Given the description of an element on the screen output the (x, y) to click on. 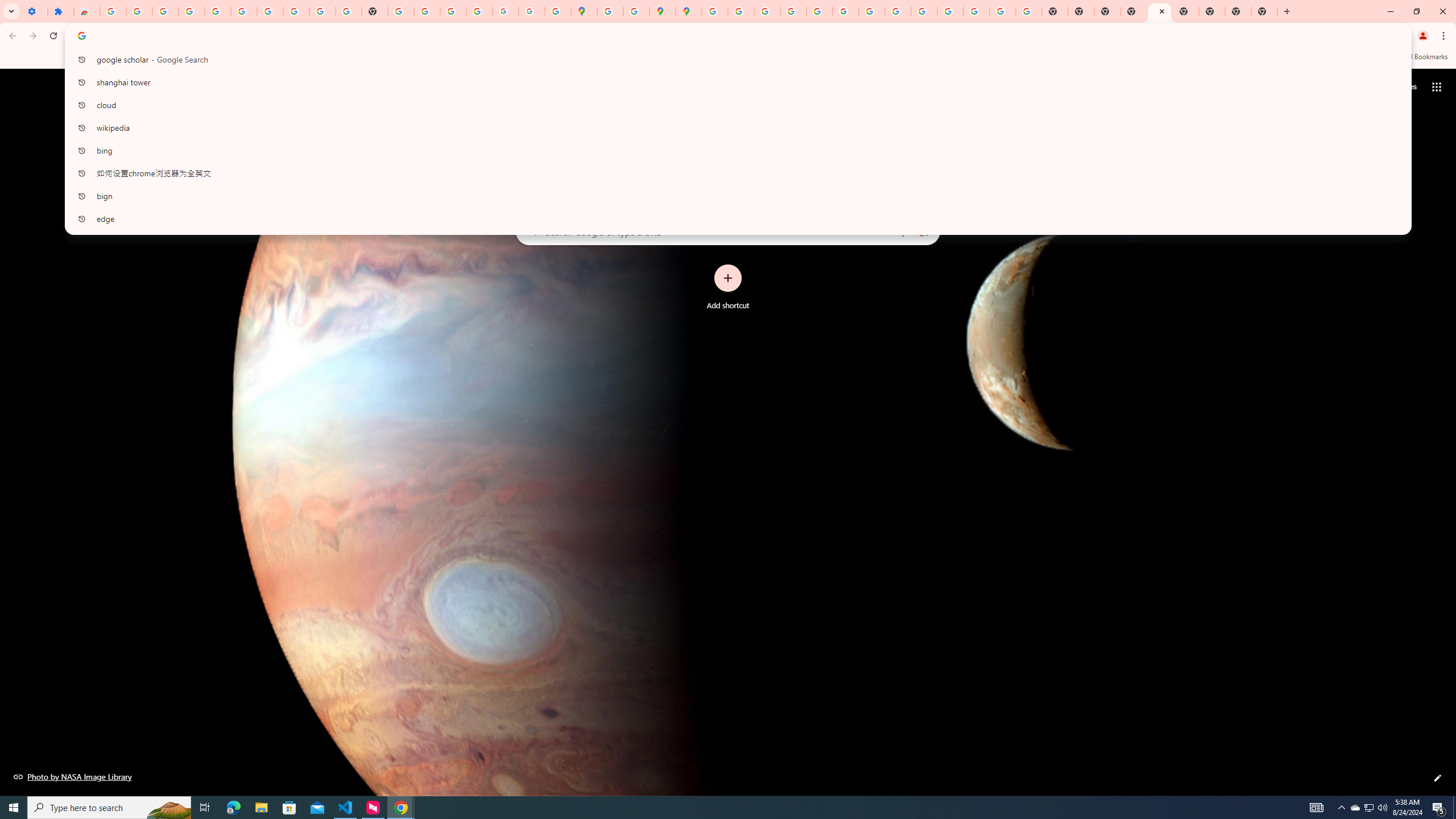
Reviews: Helix Fruit Jump Arcade Game (86, 11)
New Tab (1264, 11)
Delete photos & videos - Computer - Google Photos Help (165, 11)
Settings - On startup (34, 11)
Privacy Help Center - Policies Help (766, 11)
